Given the description of an element on the screen output the (x, y) to click on. 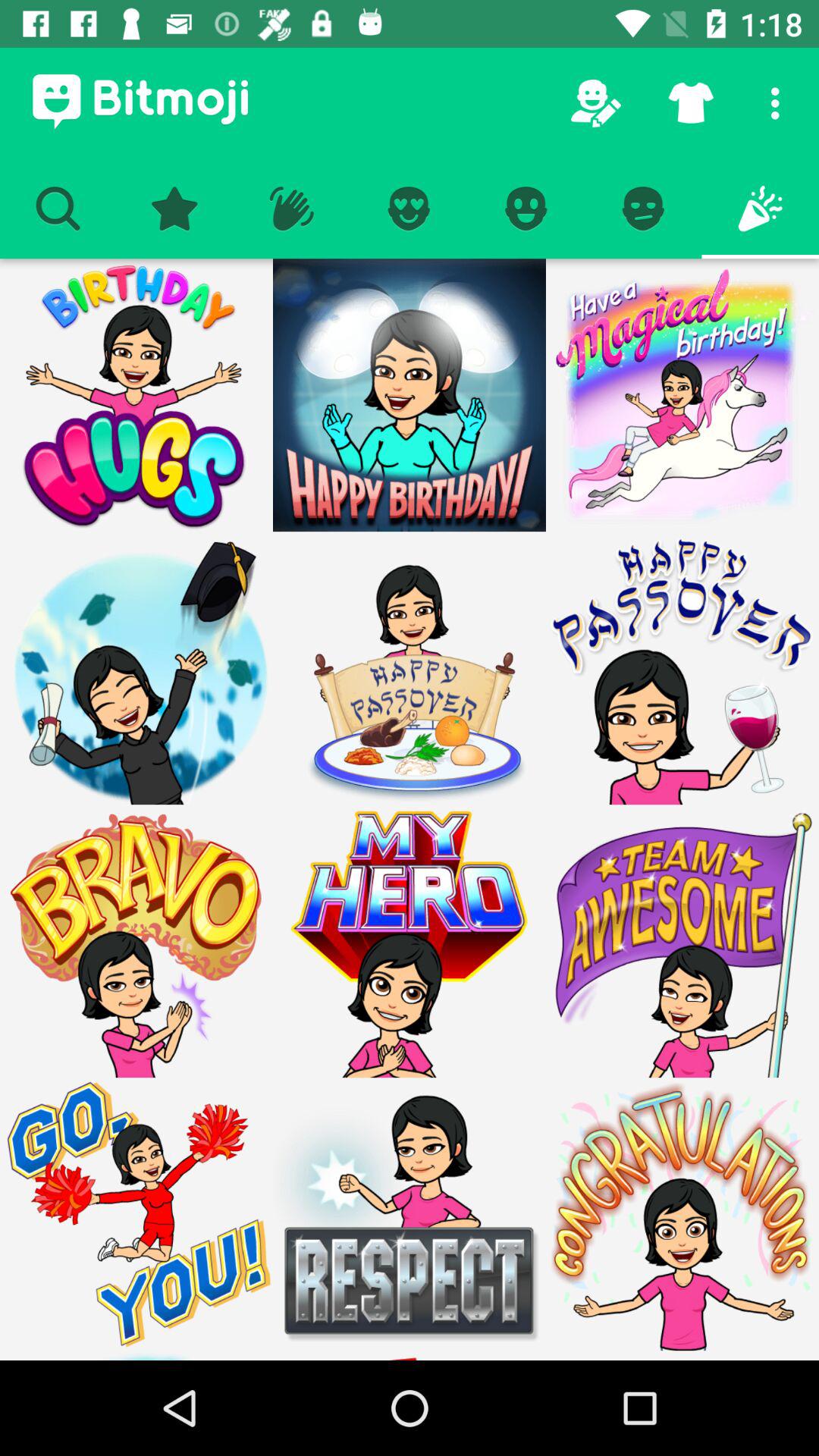
click on bottom right side where congratulations is written (682, 1355)
